Given the description of an element on the screen output the (x, y) to click on. 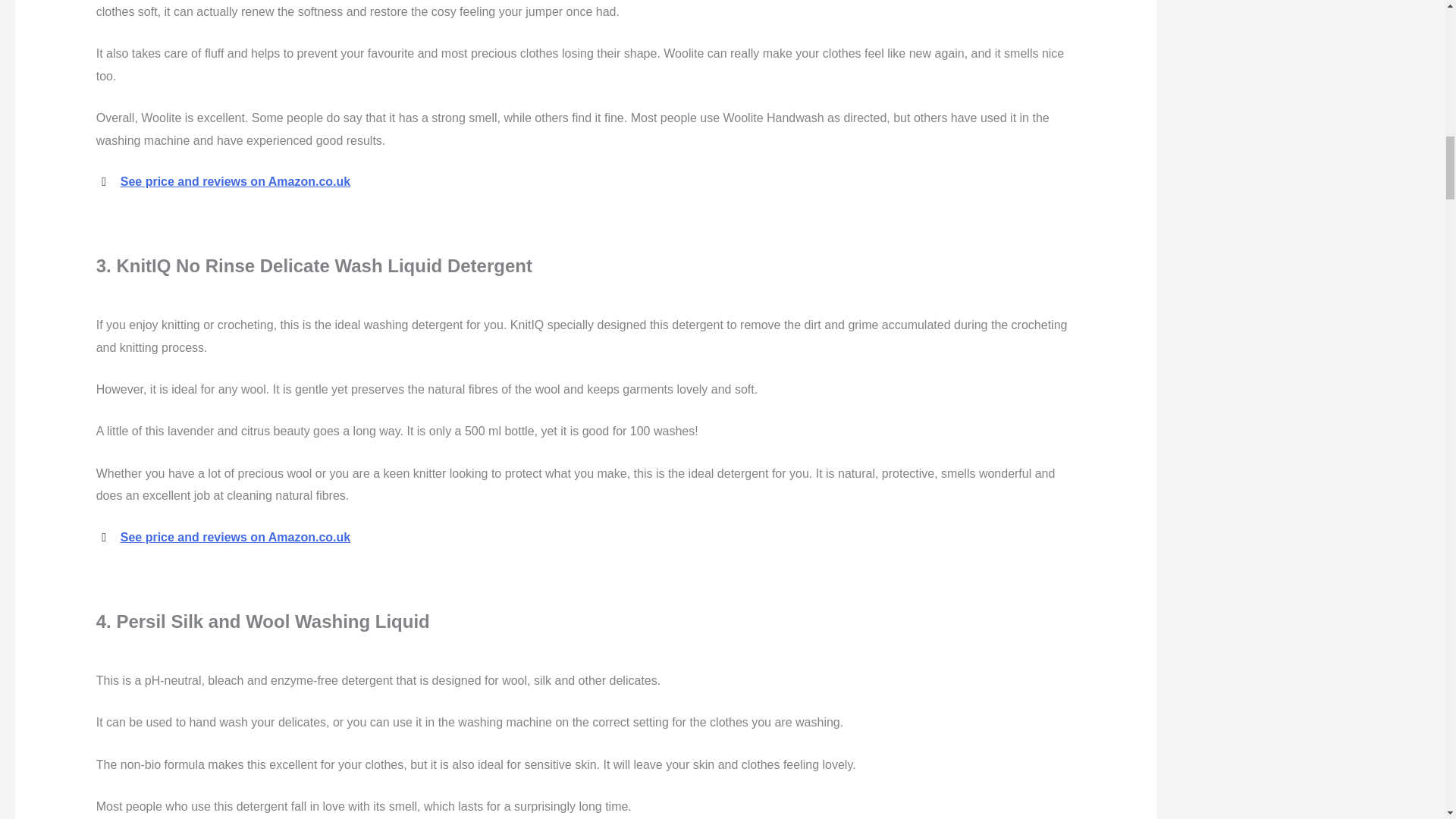
See price and reviews on Amazon.co.uk (235, 181)
See price and reviews on Amazon.co.uk (235, 536)
